Given the description of an element on the screen output the (x, y) to click on. 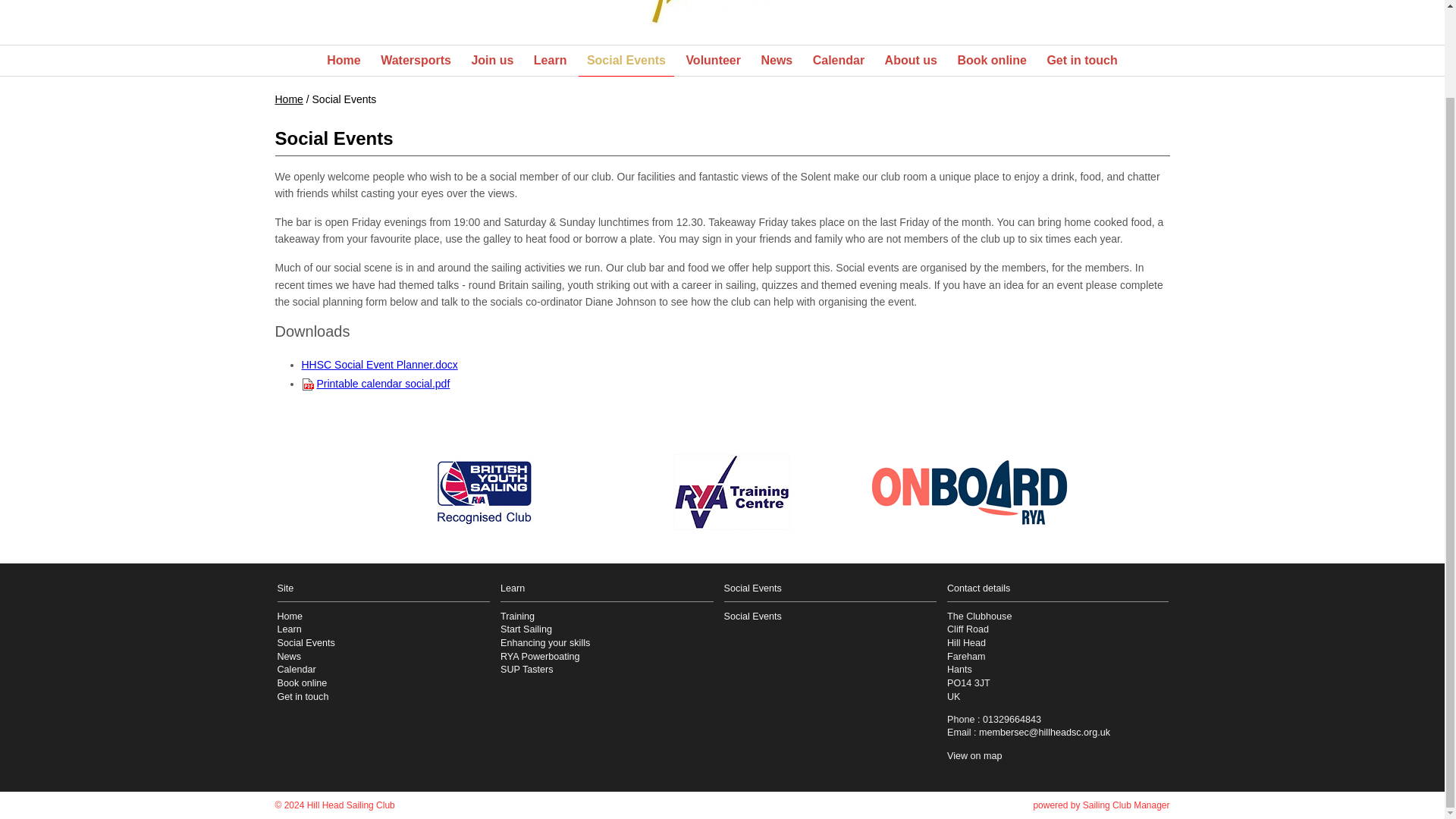
Calendar (838, 60)
Volunteer (713, 60)
Home (343, 60)
Social Events (626, 60)
News (776, 60)
Join us (492, 60)
Watersports (416, 60)
Learn (550, 60)
About us (910, 60)
